Given the description of an element on the screen output the (x, y) to click on. 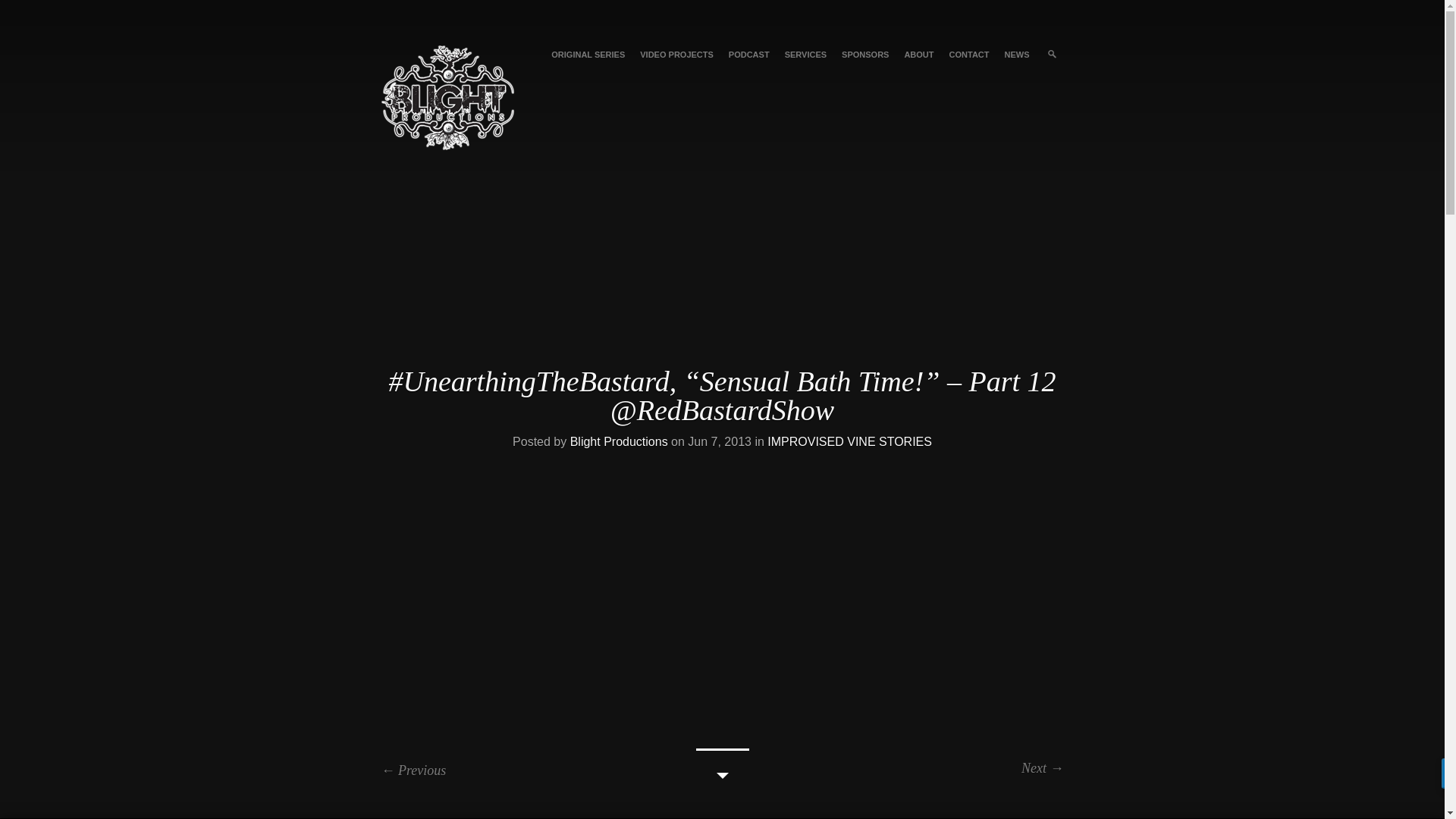
Continue (722, 766)
PODCAST (748, 54)
ORIGINAL SERIES (587, 54)
SPONSORS (865, 54)
NEWS (1015, 54)
VIDEO PROJECTS (675, 54)
Posts by Blight Productions (619, 440)
ABOUT (918, 54)
CONTACT (969, 54)
Blight Productions (619, 440)
SERVICES (805, 54)
IMPROVISED VINE STORIES (849, 440)
